Given the description of an element on the screen output the (x, y) to click on. 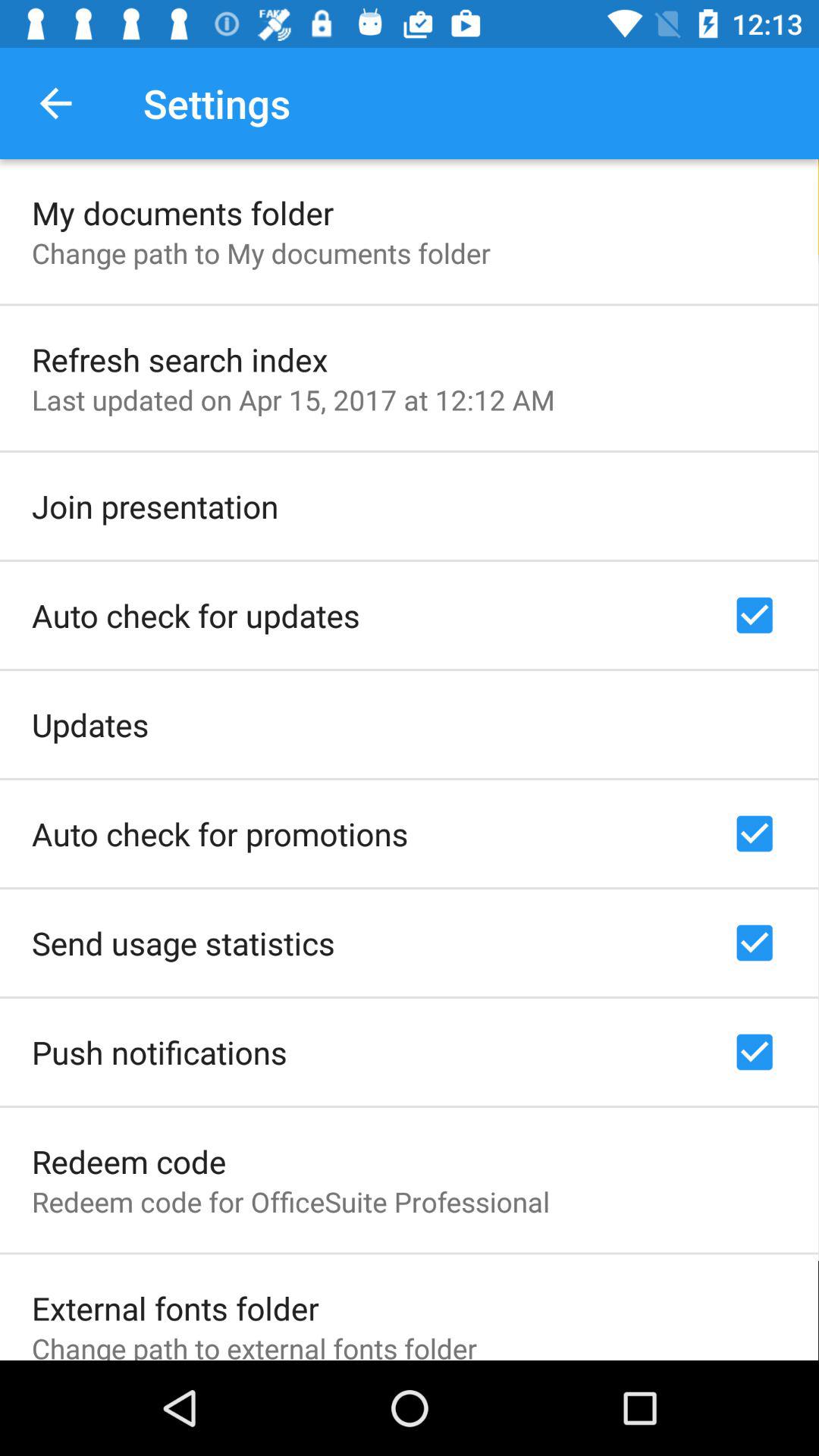
turn on the item above the my documents folder icon (55, 103)
